Given the description of an element on the screen output the (x, y) to click on. 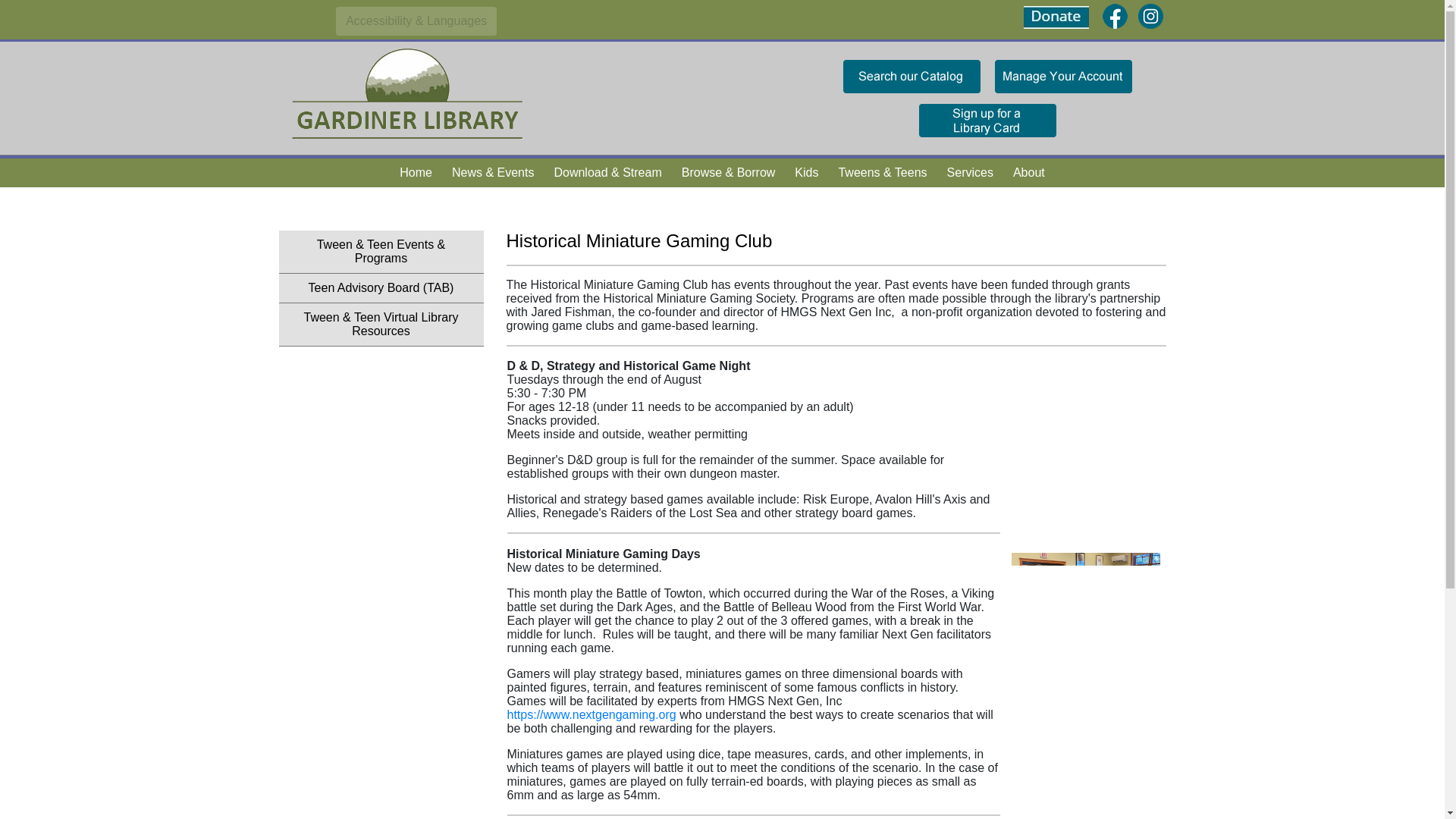
Kids (806, 172)
Home (415, 172)
Skip to Content (538, 19)
